Given the description of an element on the screen output the (x, y) to click on. 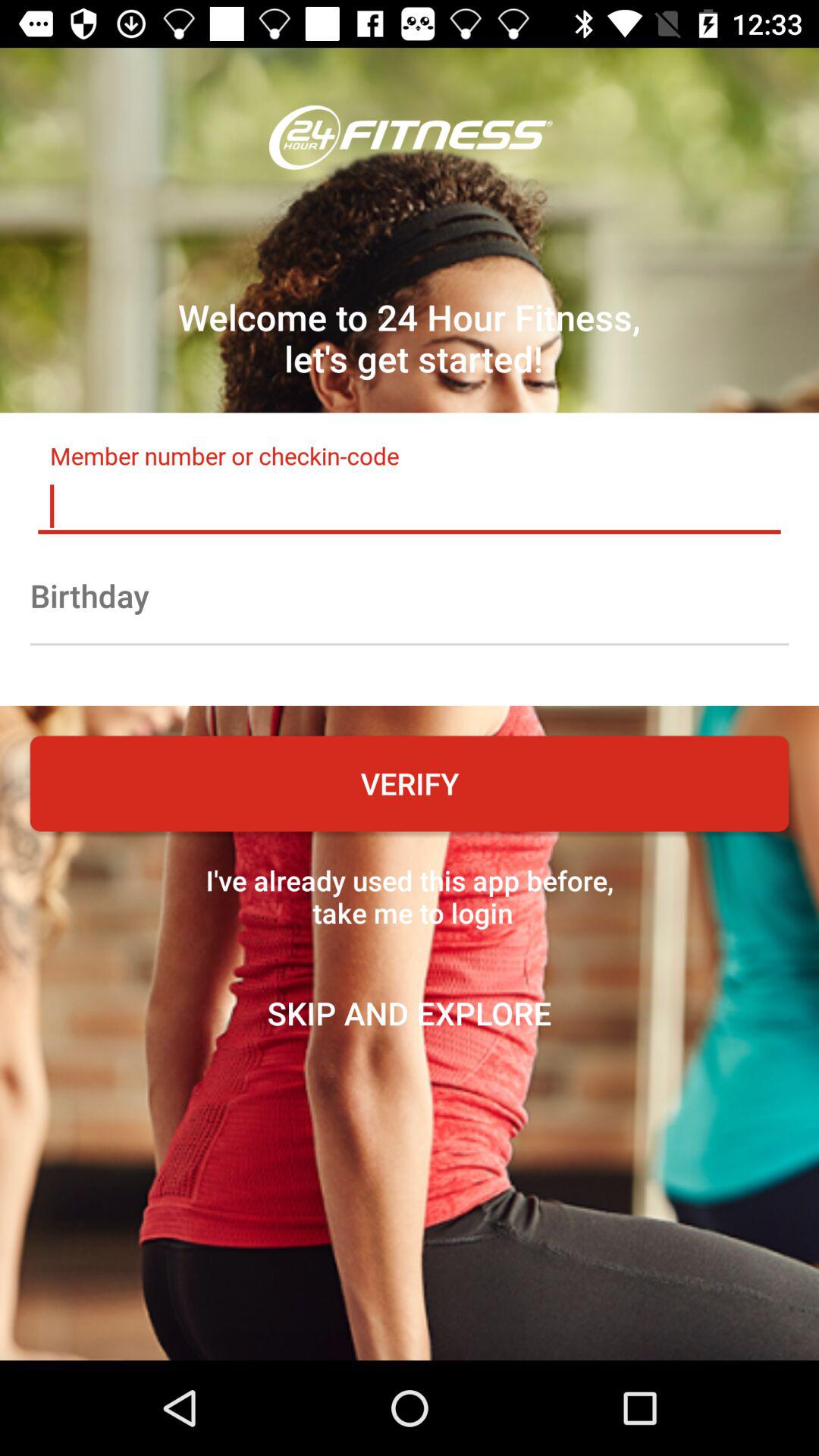
type member number (409, 505)
